Given the description of an element on the screen output the (x, y) to click on. 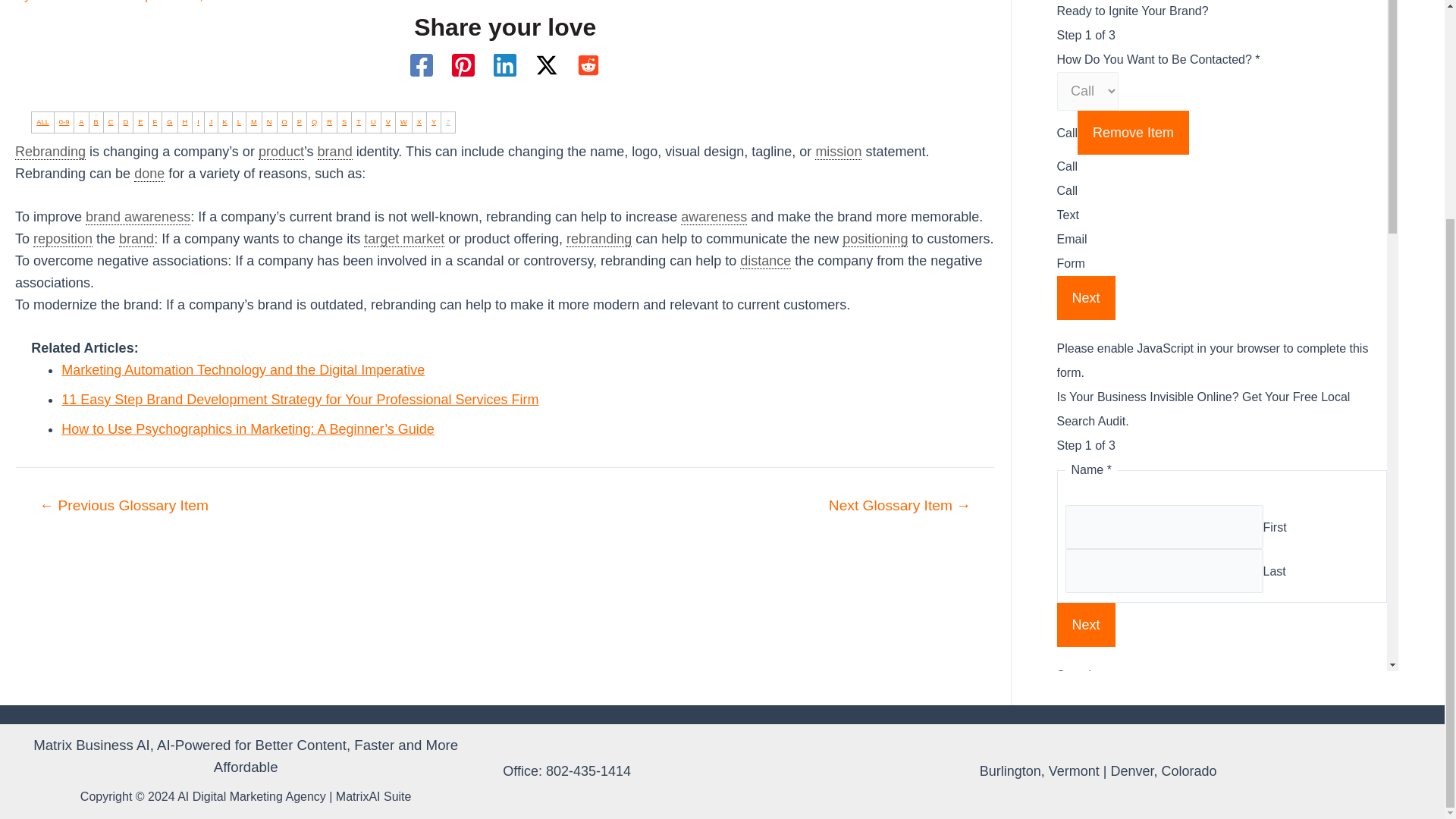
Render (899, 504)
Realization Gap (123, 504)
View all posts by matrixddev2022 (77, 1)
